Given the description of an element on the screen output the (x, y) to click on. 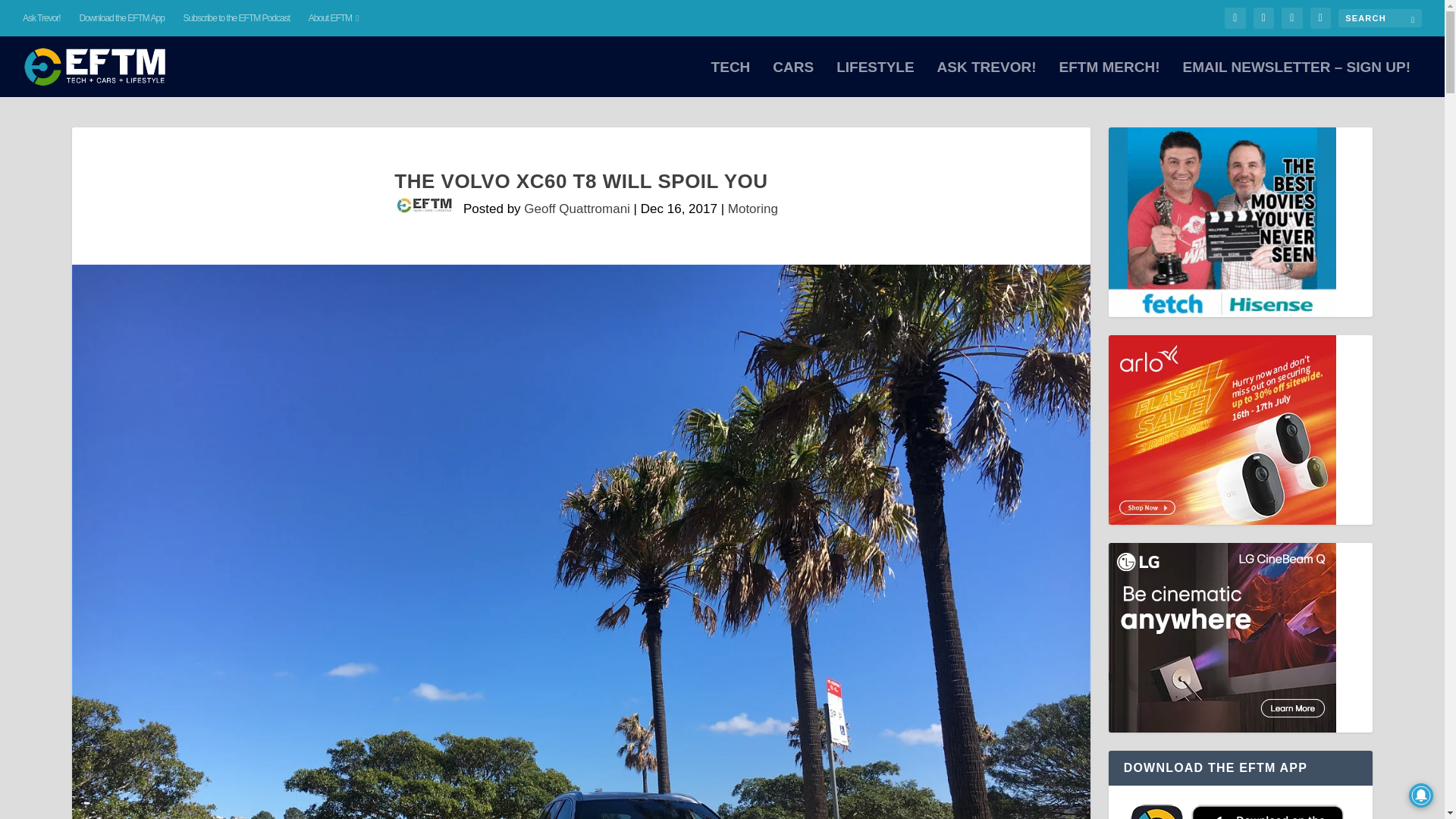
Ask Trevor! (42, 18)
EFTM MERCH! (1108, 79)
Subscribe to the EFTM Podcast (236, 18)
TECH (731, 79)
About EFTM (333, 18)
ASK TREVOR! (986, 79)
Posts by Geoff Quattromani (577, 208)
CARS (793, 79)
Search for: (1380, 18)
LIFESTYLE (874, 79)
Download the EFTM App (120, 18)
